Given the description of an element on the screen output the (x, y) to click on. 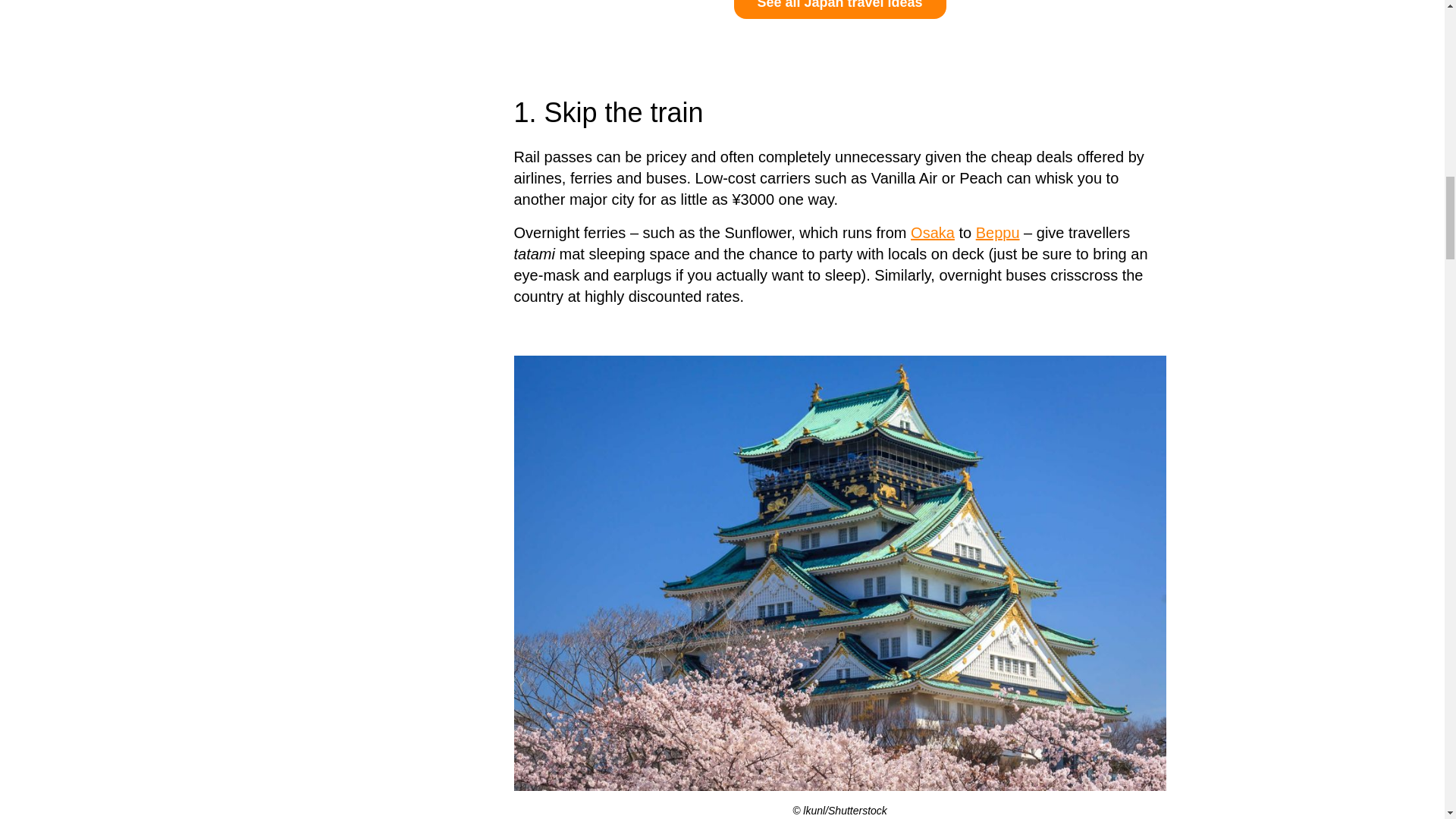
Beppu (997, 232)
See all Japan travel ideas (839, 9)
Osaka (933, 232)
